Given the description of an element on the screen output the (x, y) to click on. 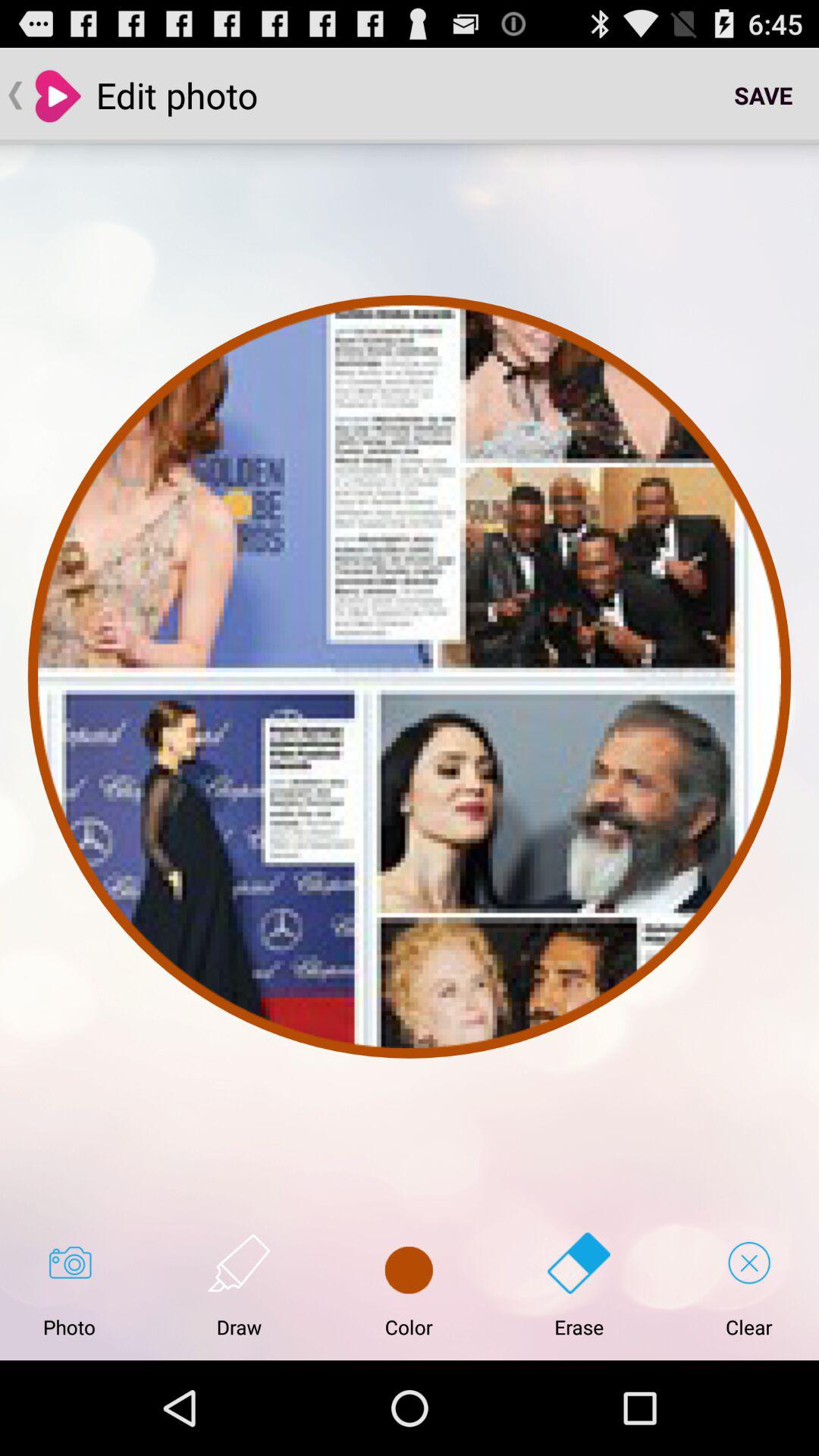
click the clear button (749, 1285)
